Given the description of an element on the screen output the (x, y) to click on. 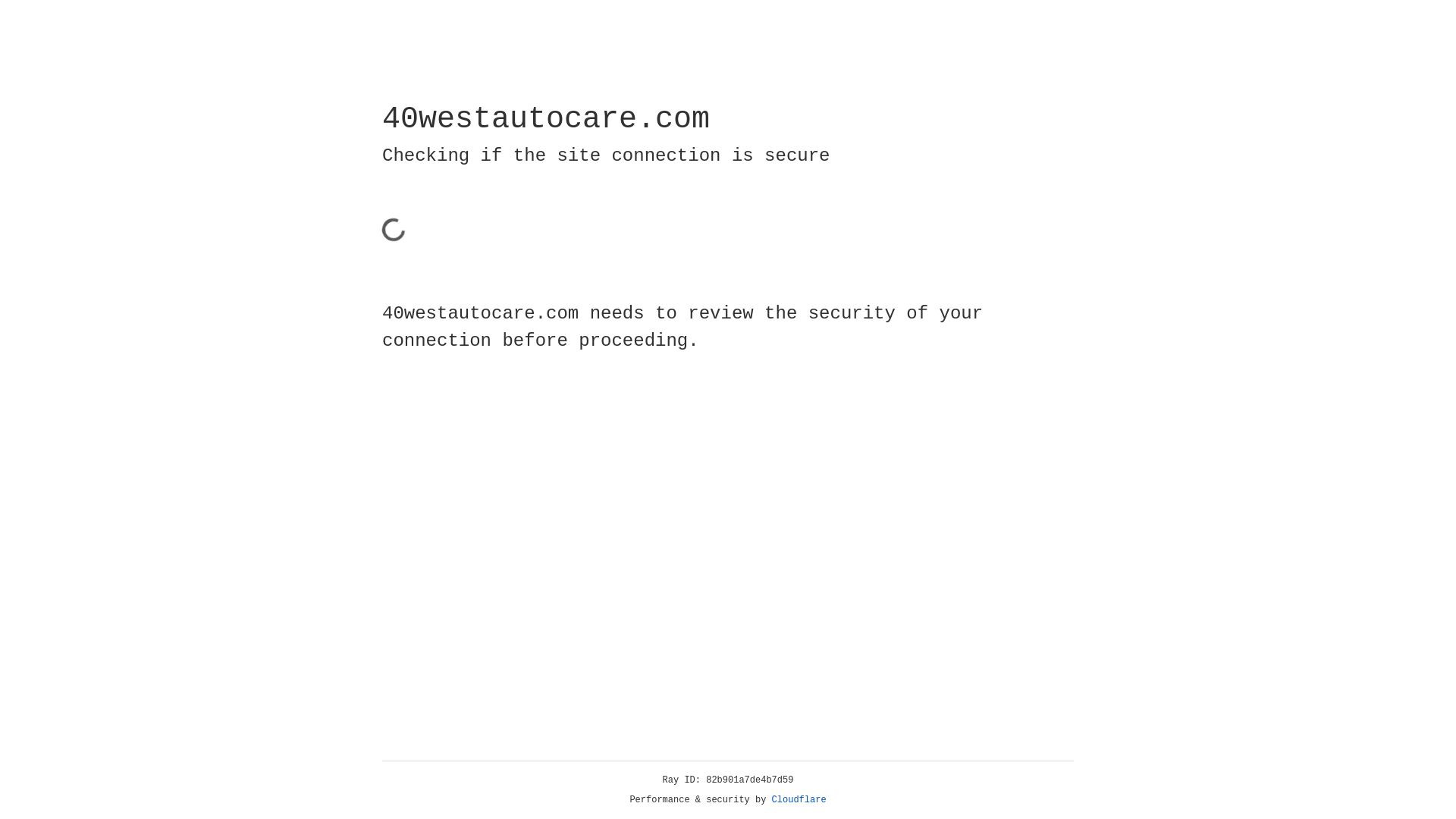
Cloudflare Element type: text (798, 799)
